Given the description of an element on the screen output the (x, y) to click on. 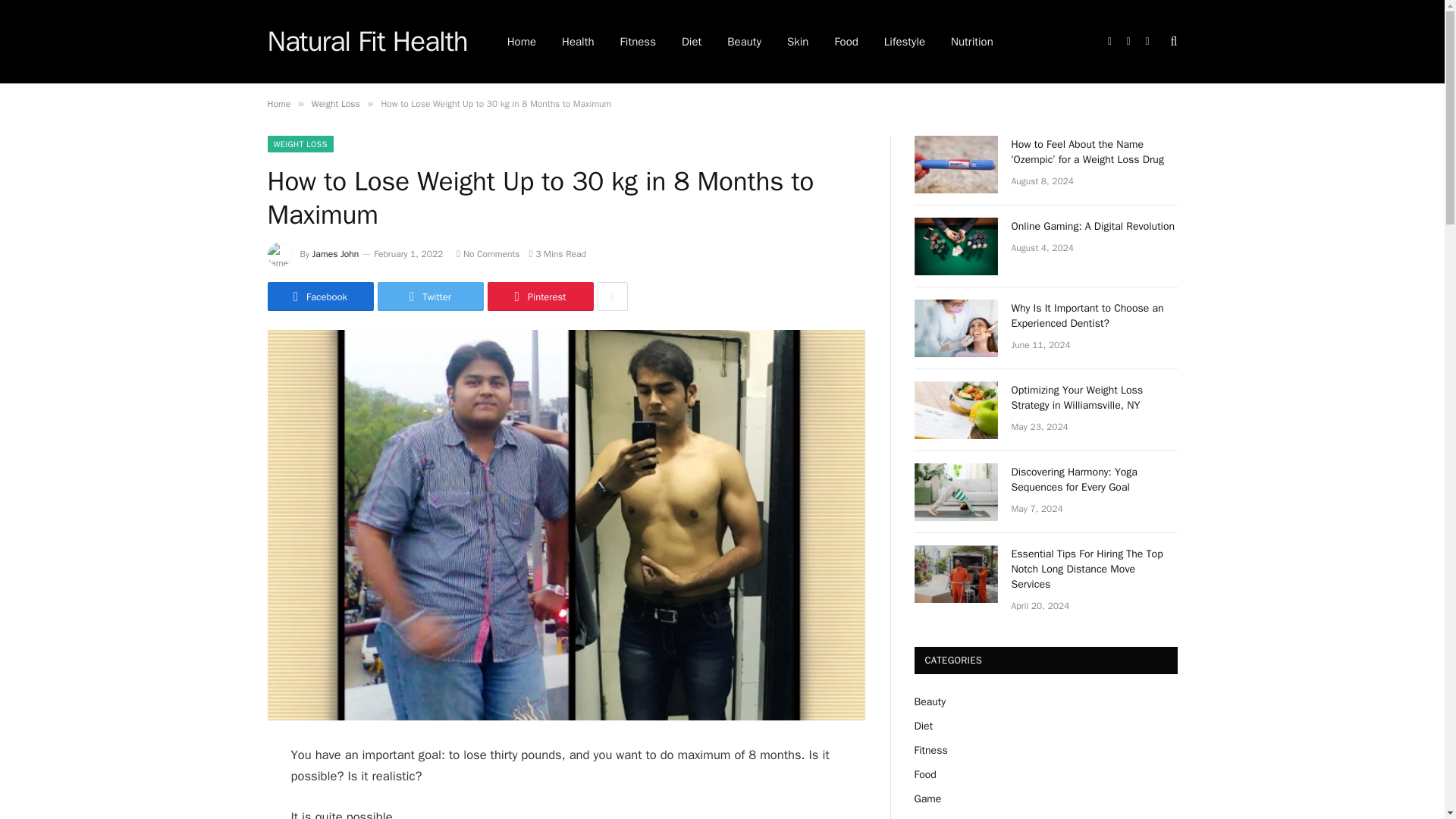
Natural Fit Health (366, 41)
Home (277, 103)
Show More Social Sharing (611, 296)
Posts by James John (336, 254)
Share on Facebook (319, 296)
Natural Fit Health (366, 41)
Share on Pinterest (539, 296)
Pinterest (539, 296)
Weight Loss (335, 103)
